Given the description of an element on the screen output the (x, y) to click on. 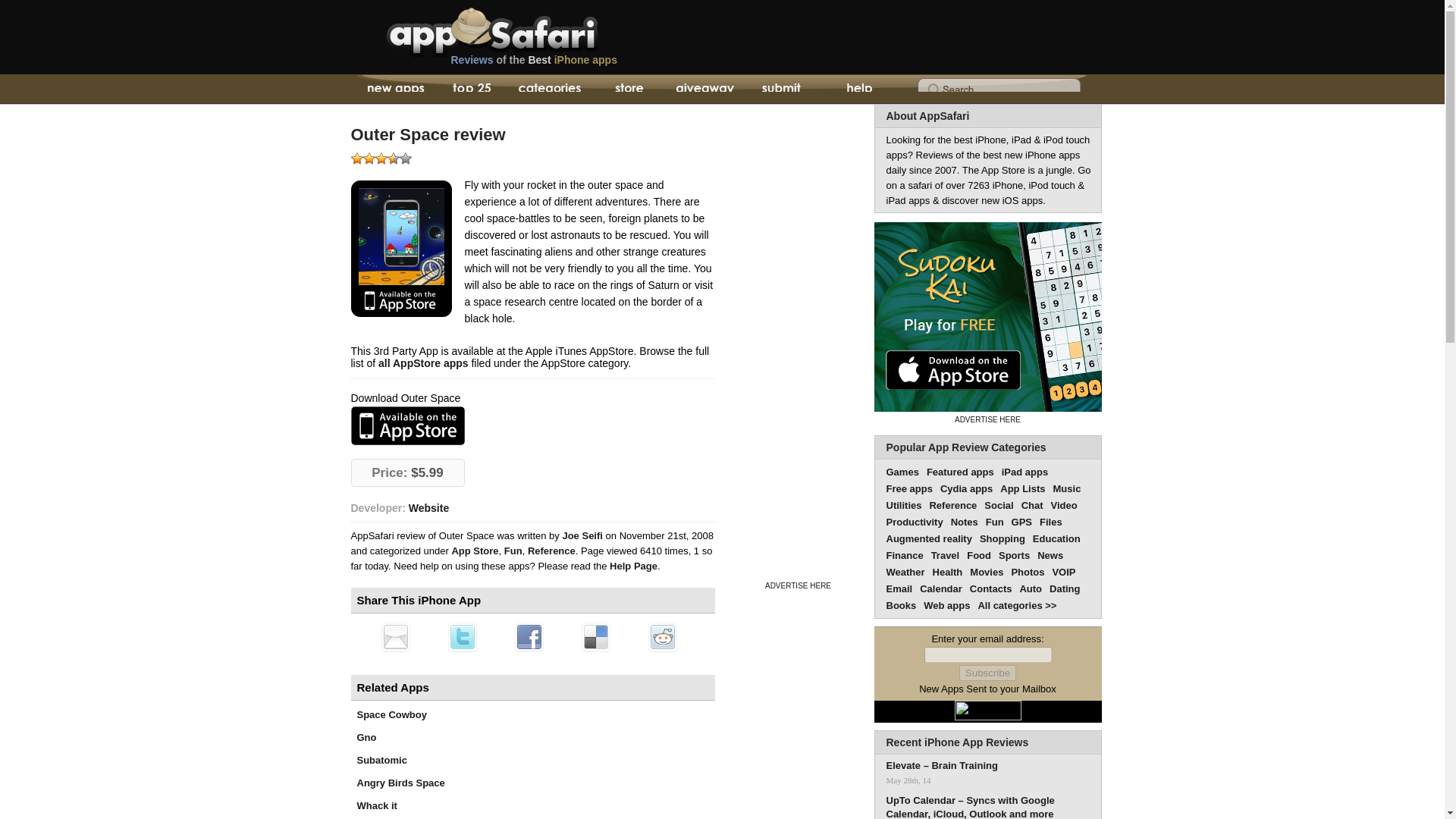
Top 25 Rated iPhone Apps (471, 89)
Popular App Review Categories (965, 447)
Top 25 (471, 89)
Daily iPhone App Giveaway (703, 89)
Subatomic (381, 759)
Whack it (376, 805)
Space Cowboy (391, 714)
Email this app to a friend! (394, 636)
all AppStore apps (423, 363)
Email this app to a friend! (394, 636)
